Given the description of an element on the screen output the (x, y) to click on. 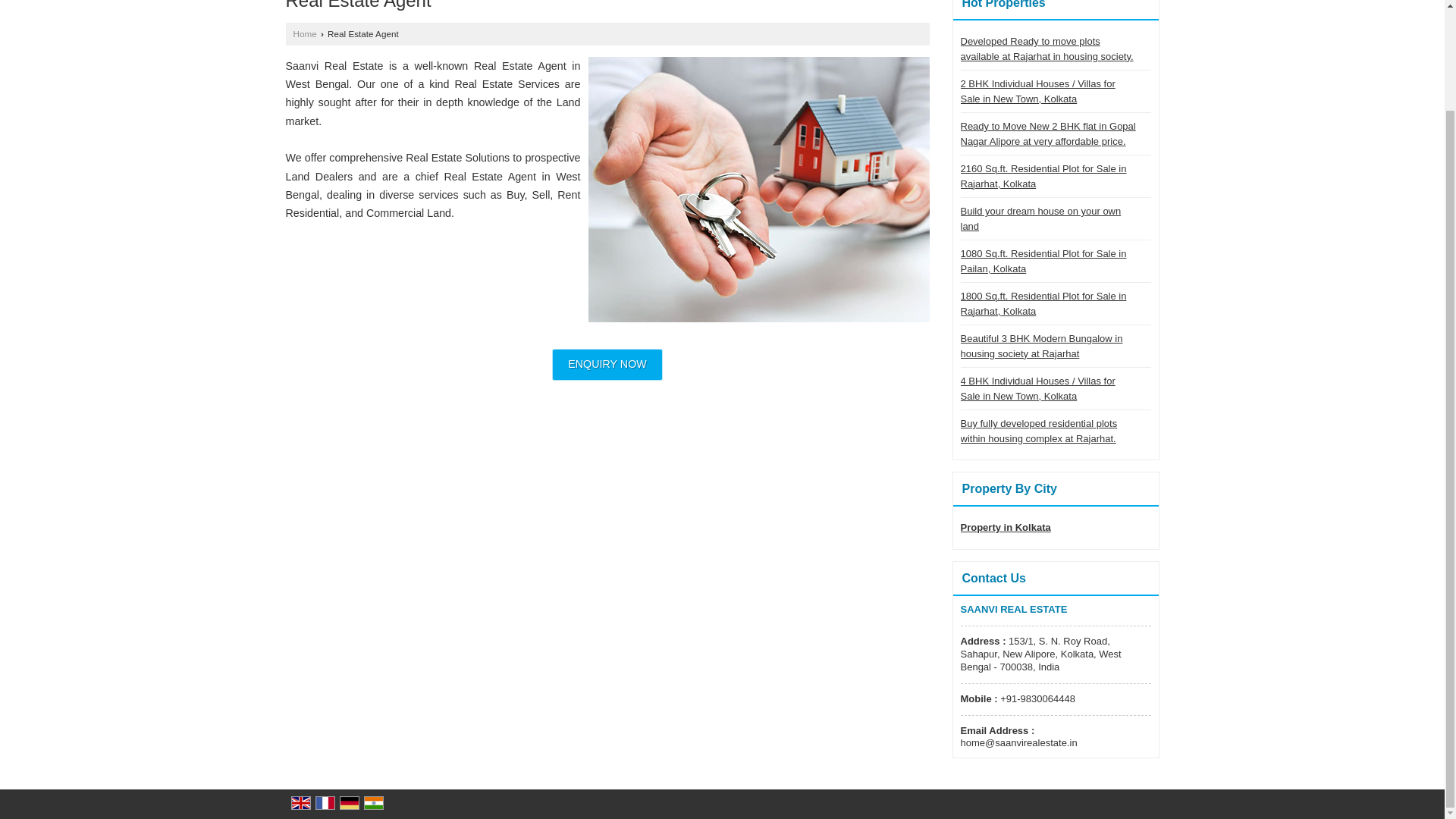
Home (303, 33)
ENQUIRY NOW (606, 364)
